Given the description of an element on the screen output the (x, y) to click on. 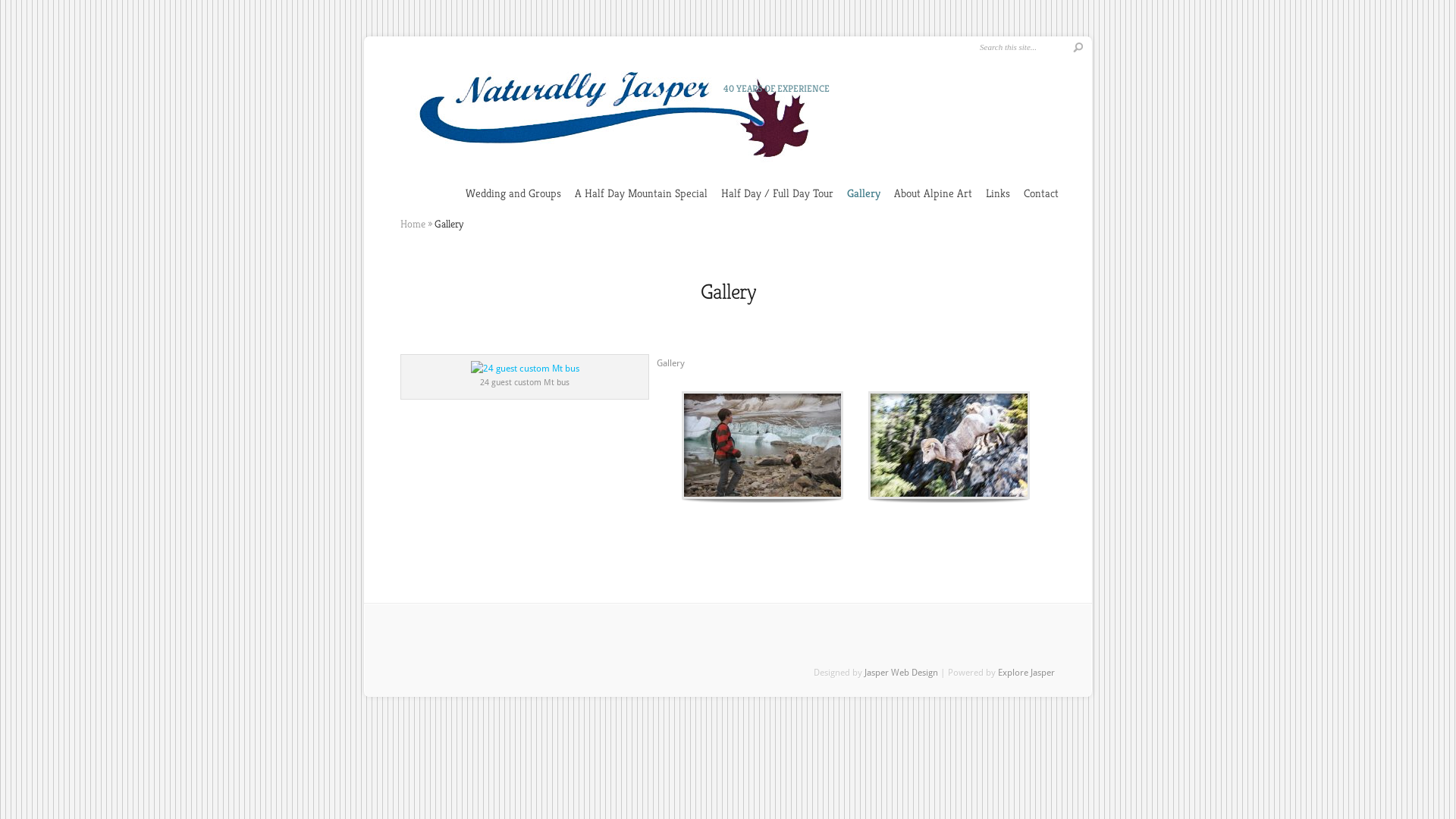
A Half Day Mountain Special Element type: text (640, 192)
Wedding and Groups Element type: text (513, 192)
Half Day / Full Day Tour Element type: text (777, 192)
Home Element type: text (412, 223)
About Alpine Art Element type: text (933, 192)
Contact Element type: text (1040, 192)
Links Element type: text (997, 192)
Gallery Element type: text (863, 192)
Explore Jasper Element type: text (1025, 672)
Jasper Web Design Element type: text (901, 672)
